Given the description of an element on the screen output the (x, y) to click on. 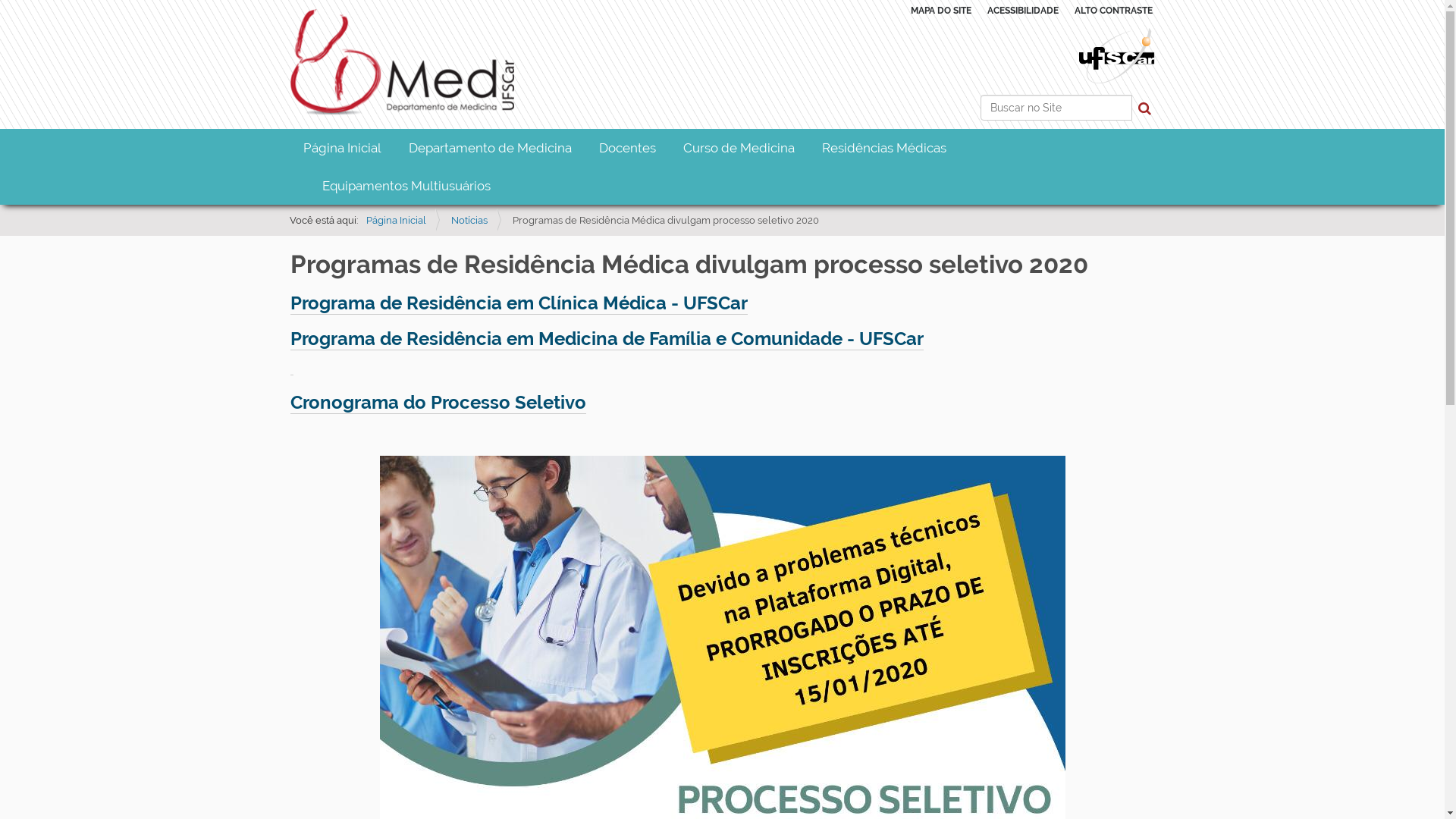
MAPA DO SITE Element type: text (940, 10)
ALTO CONTRASTE Element type: text (1112, 10)
  Element type: text (290, 367)
Portal UFSCar Element type: hover (1116, 54)
ACESSIBILIDADE Element type: text (1022, 10)
Cronograma do Processo Seletivo Element type: text (437, 402)
Curso de Medicina Element type: text (737, 147)
Buscar no Site Element type: hover (1055, 107)
Departamento de Medicina Element type: text (489, 147)
Departamento de Medicina Element type: hover (401, 64)
Departamento de Medicina Element type: hover (403, 64)
Docentes Element type: text (627, 147)
